Given the description of an element on the screen output the (x, y) to click on. 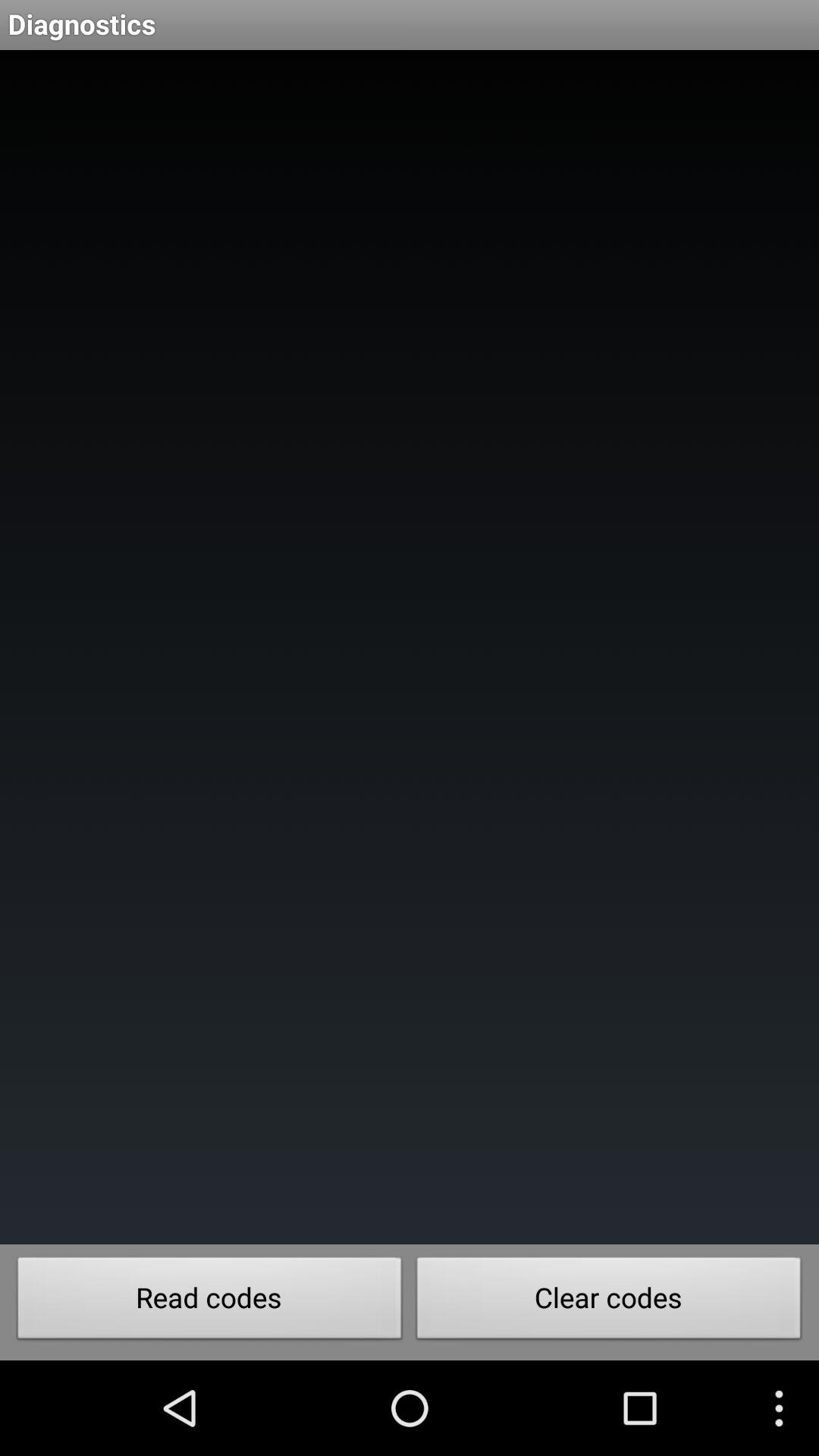
choose the icon at the bottom right corner (608, 1302)
